Given the description of an element on the screen output the (x, y) to click on. 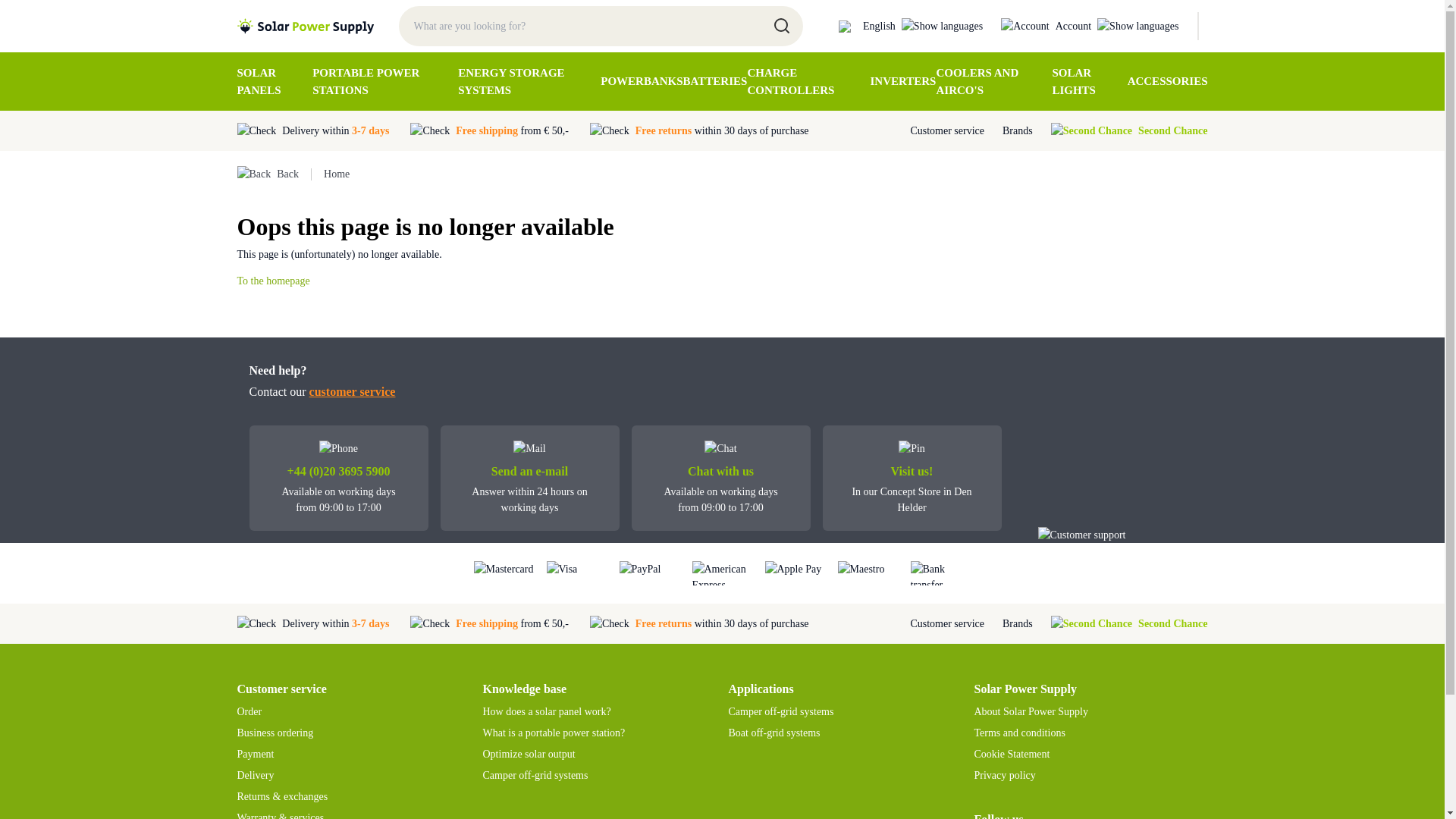
PORTABLE POWER STATIONS (385, 81)
SOLAR PANELS (274, 81)
Account (1089, 26)
English (910, 26)
